Given the description of an element on the screen output the (x, y) to click on. 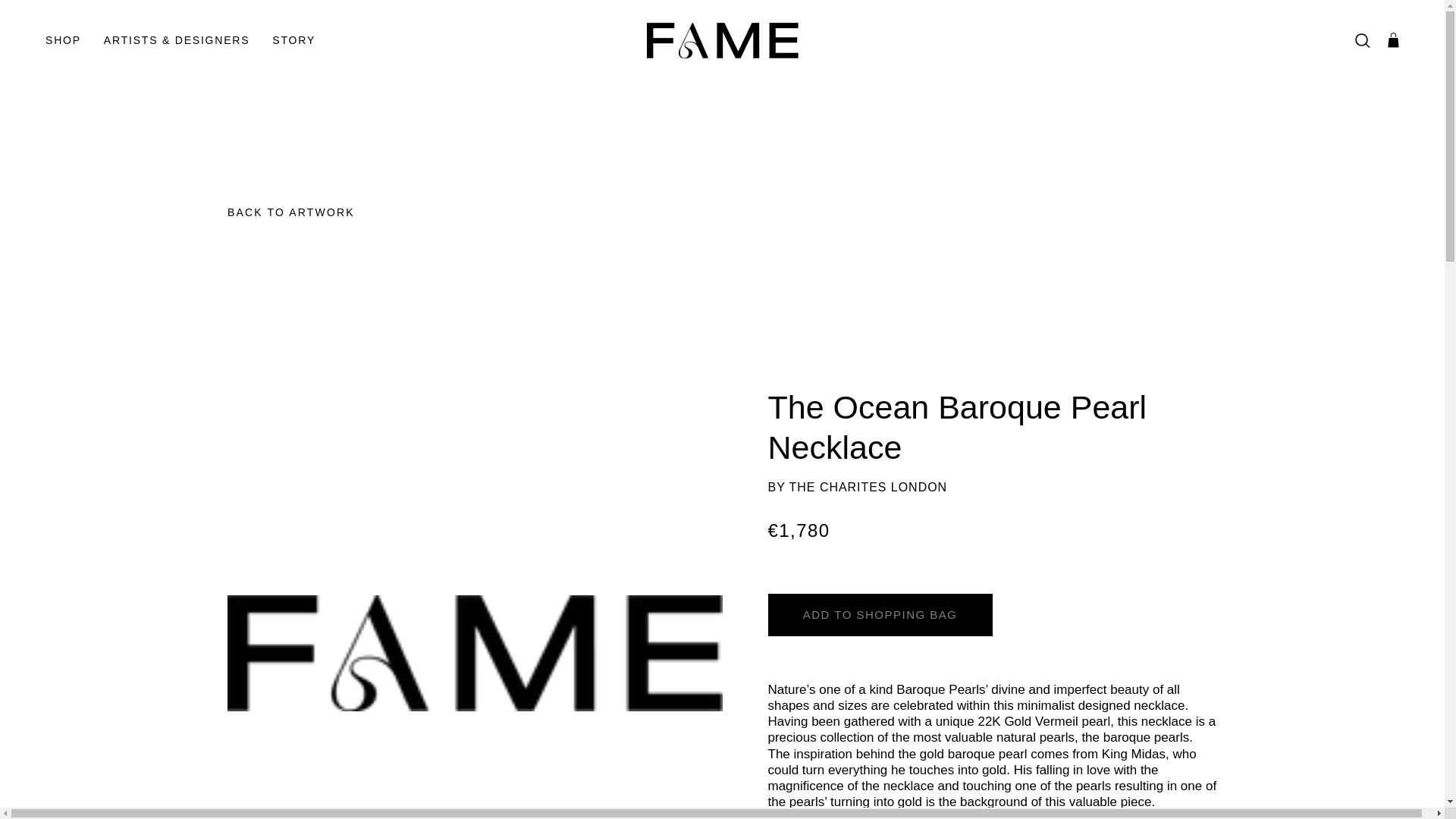
SHOP (63, 40)
Open cart (1392, 40)
Open search bar (1362, 40)
STORY (293, 40)
